Given the description of an element on the screen output the (x, y) to click on. 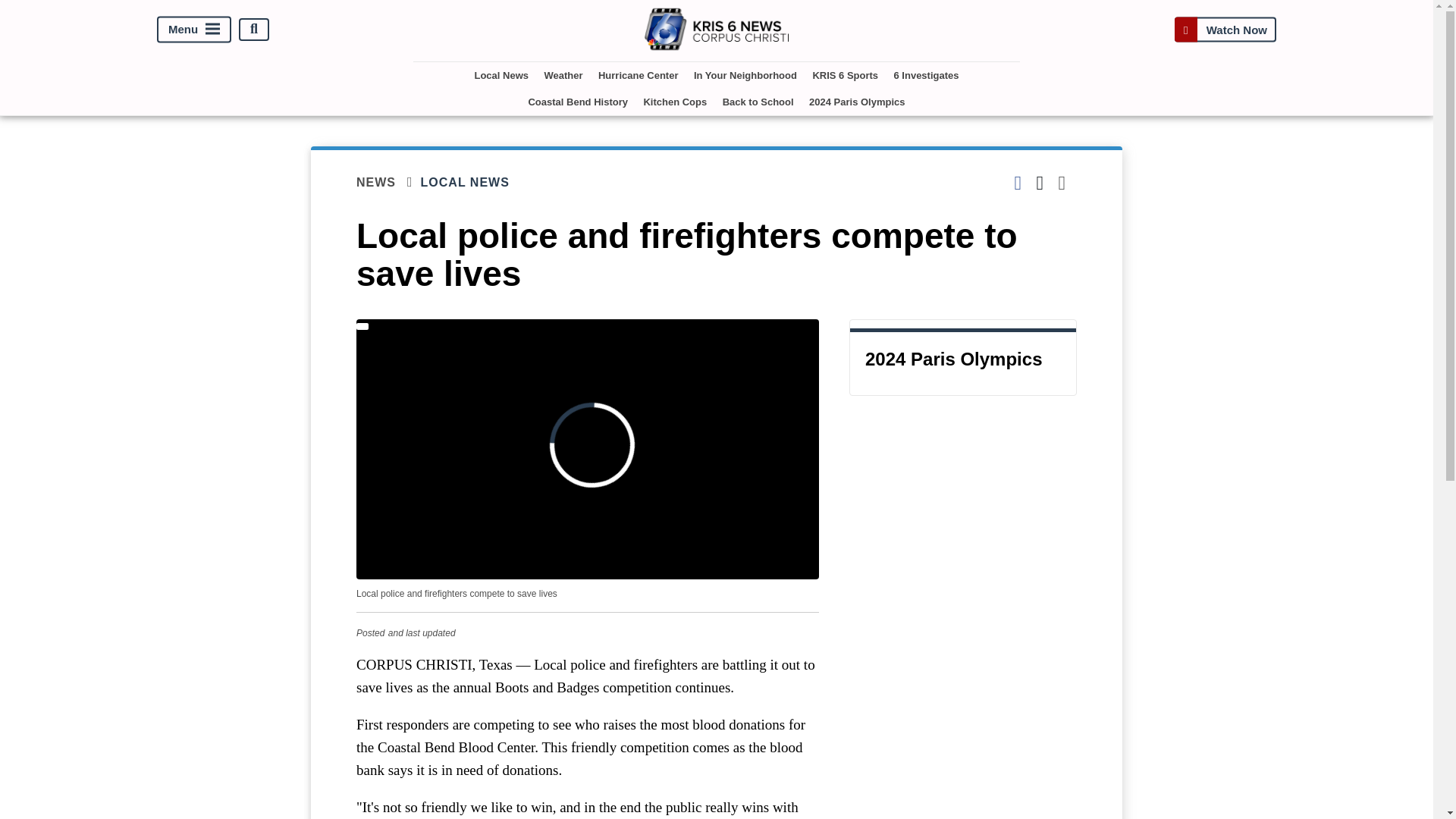
Watch Now (1224, 29)
Menu (194, 28)
